Given the description of an element on the screen output the (x, y) to click on. 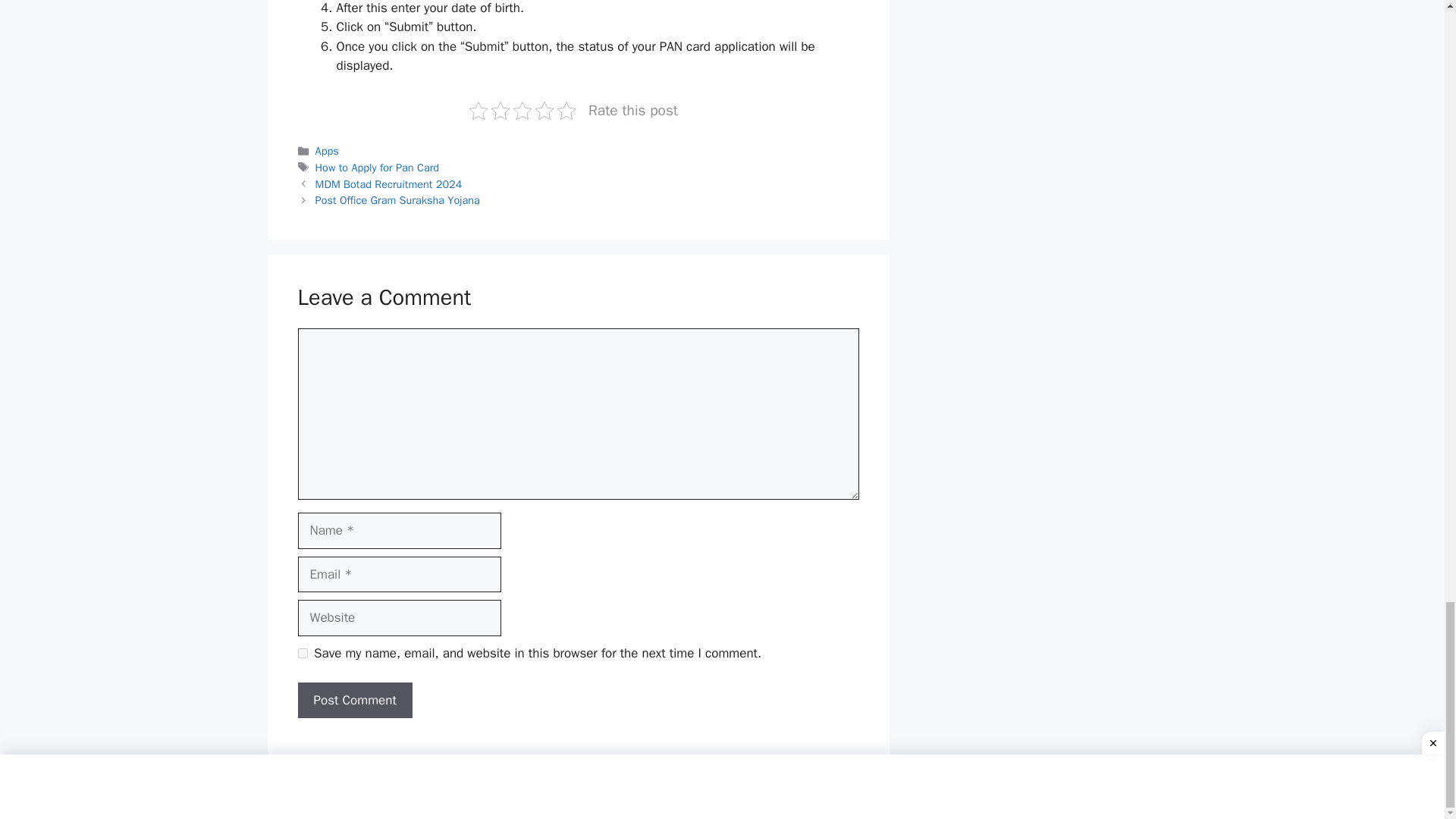
MDM Botad Recruitment 2024 (389, 183)
yes (302, 653)
How to Apply for Pan Card (377, 167)
Post Office Gram Suraksha Yojana (397, 200)
Apps (327, 151)
Post Comment (354, 700)
Post Comment (354, 700)
